Given the description of an element on the screen output the (x, y) to click on. 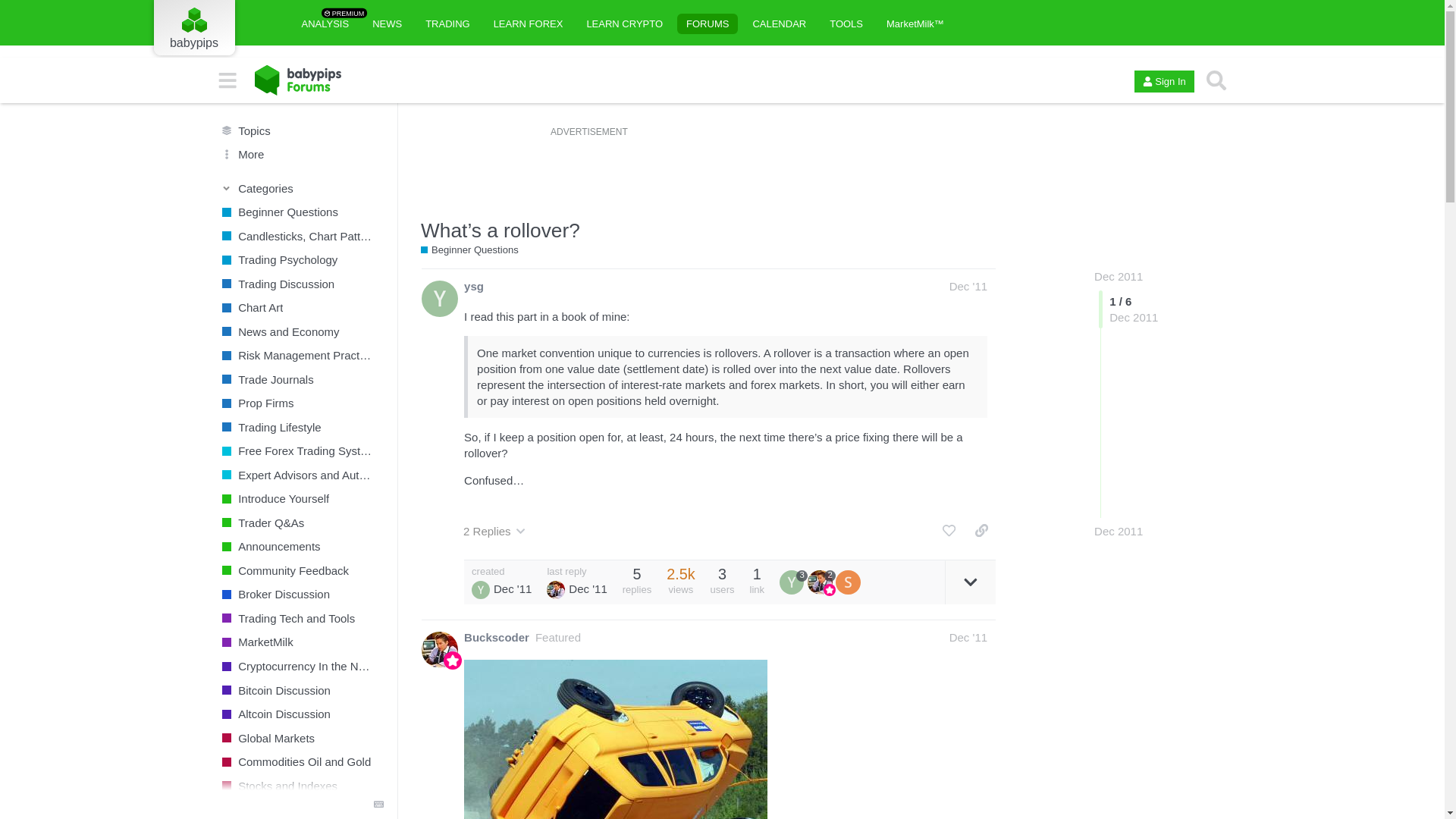
NEWS (386, 22)
babypips (193, 35)
TOOLS (846, 22)
LEARN CRYPTO (623, 22)
All topics (295, 129)
Toggle section (325, 22)
TRADING (295, 187)
FORUMS (447, 22)
Hide sidebar (707, 22)
